Given the description of an element on the screen output the (x, y) to click on. 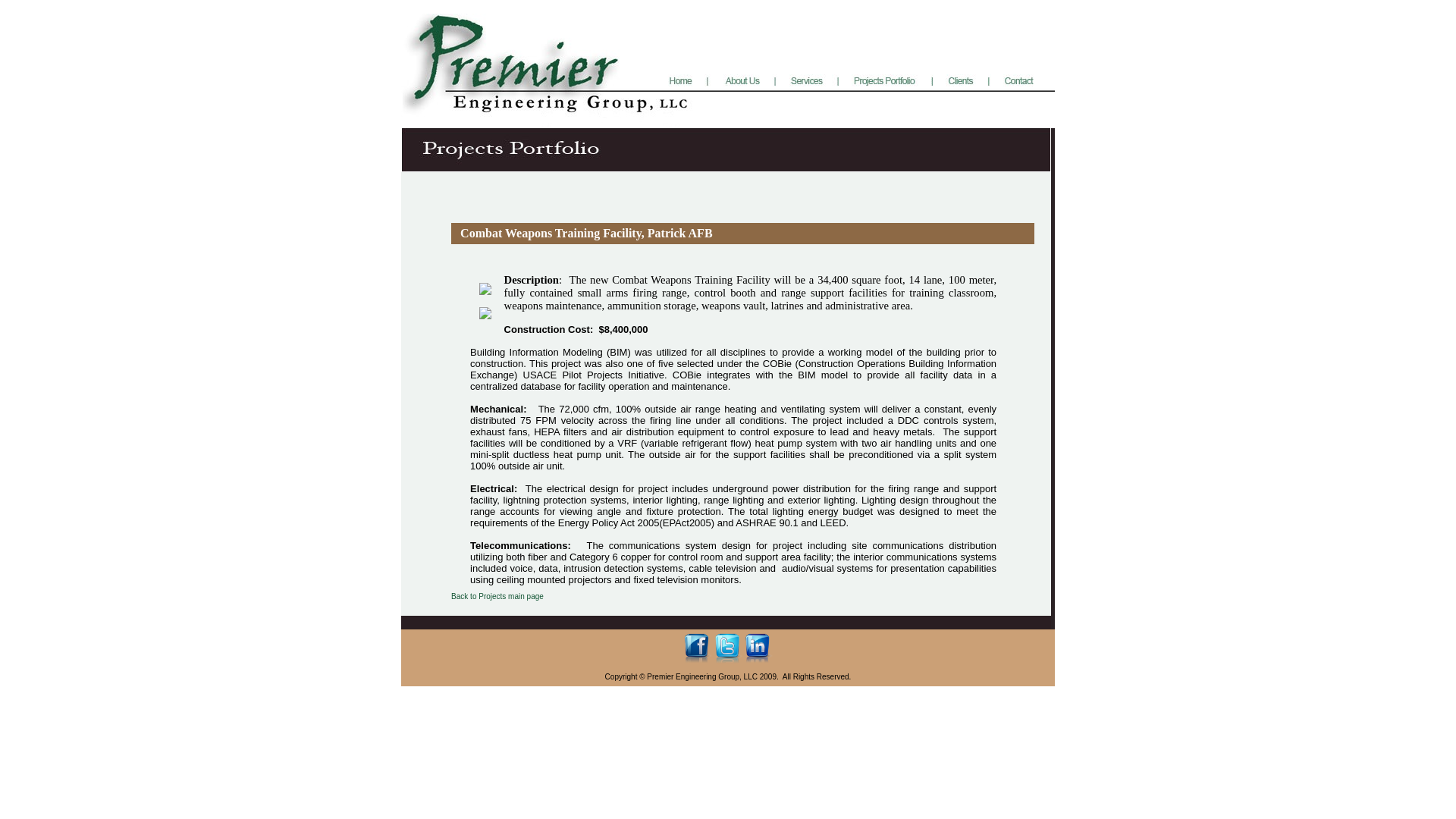
Back to Projects main page (497, 596)
